Given the description of an element on the screen output the (x, y) to click on. 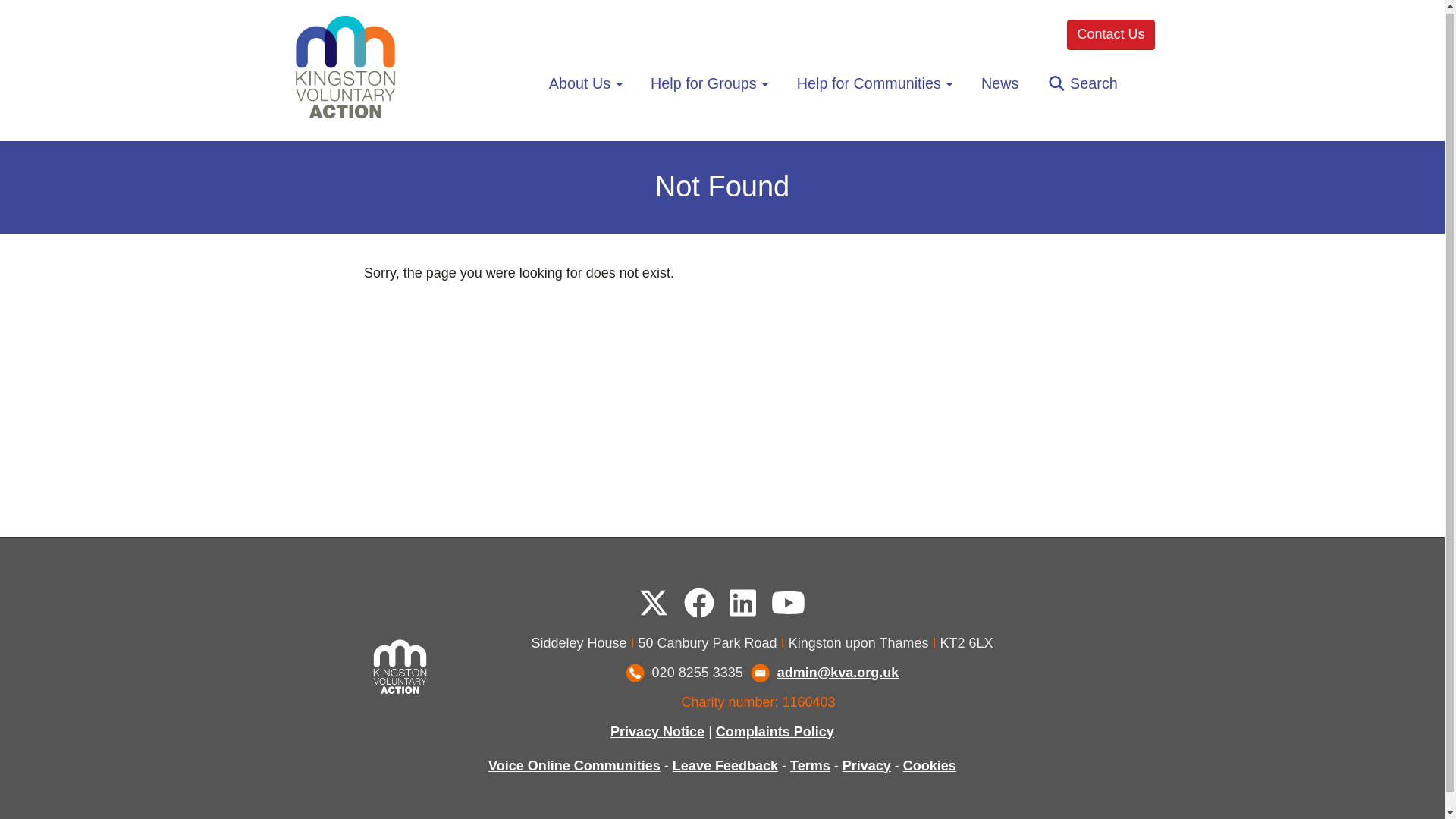
About Us (585, 83)
Privacy Notice (657, 731)
Help for Groups (708, 83)
Facebook (699, 603)
Search (1082, 83)
YouTube (788, 603)
YouTube (788, 603)
Complaints Policy (775, 731)
Contact Us (1110, 34)
